Given the description of an element on the screen output the (x, y) to click on. 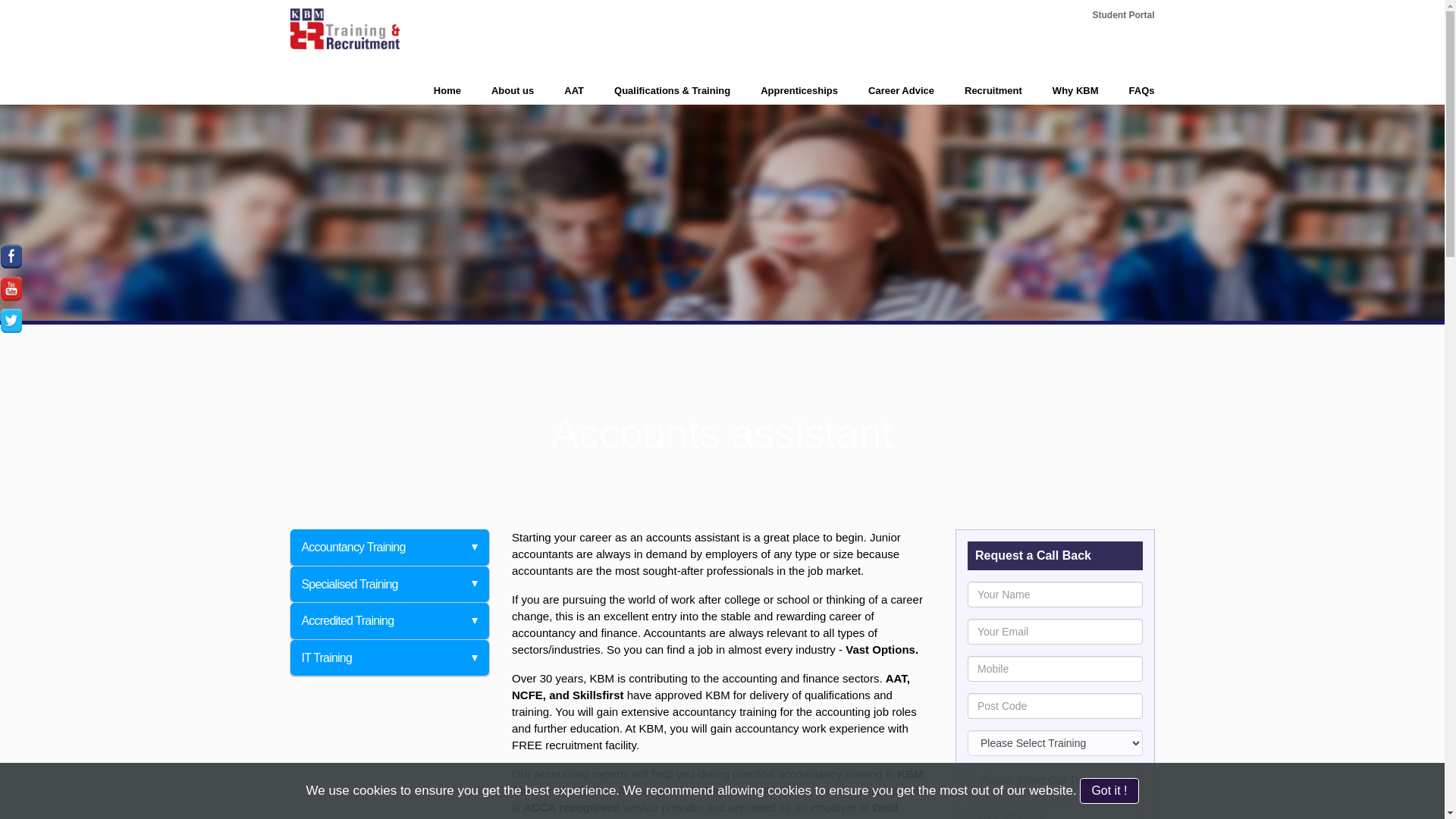
Apprenticeships (784, 91)
home (432, 91)
About (497, 91)
Home (432, 91)
AAT (558, 91)
FAQs (1126, 91)
sp (1123, 14)
Recruitment (978, 91)
AAT Courses (558, 91)
Why kbm (1060, 91)
Student Portal (1123, 14)
About us (497, 91)
Career advice (886, 91)
